Given the description of an element on the screen output the (x, y) to click on. 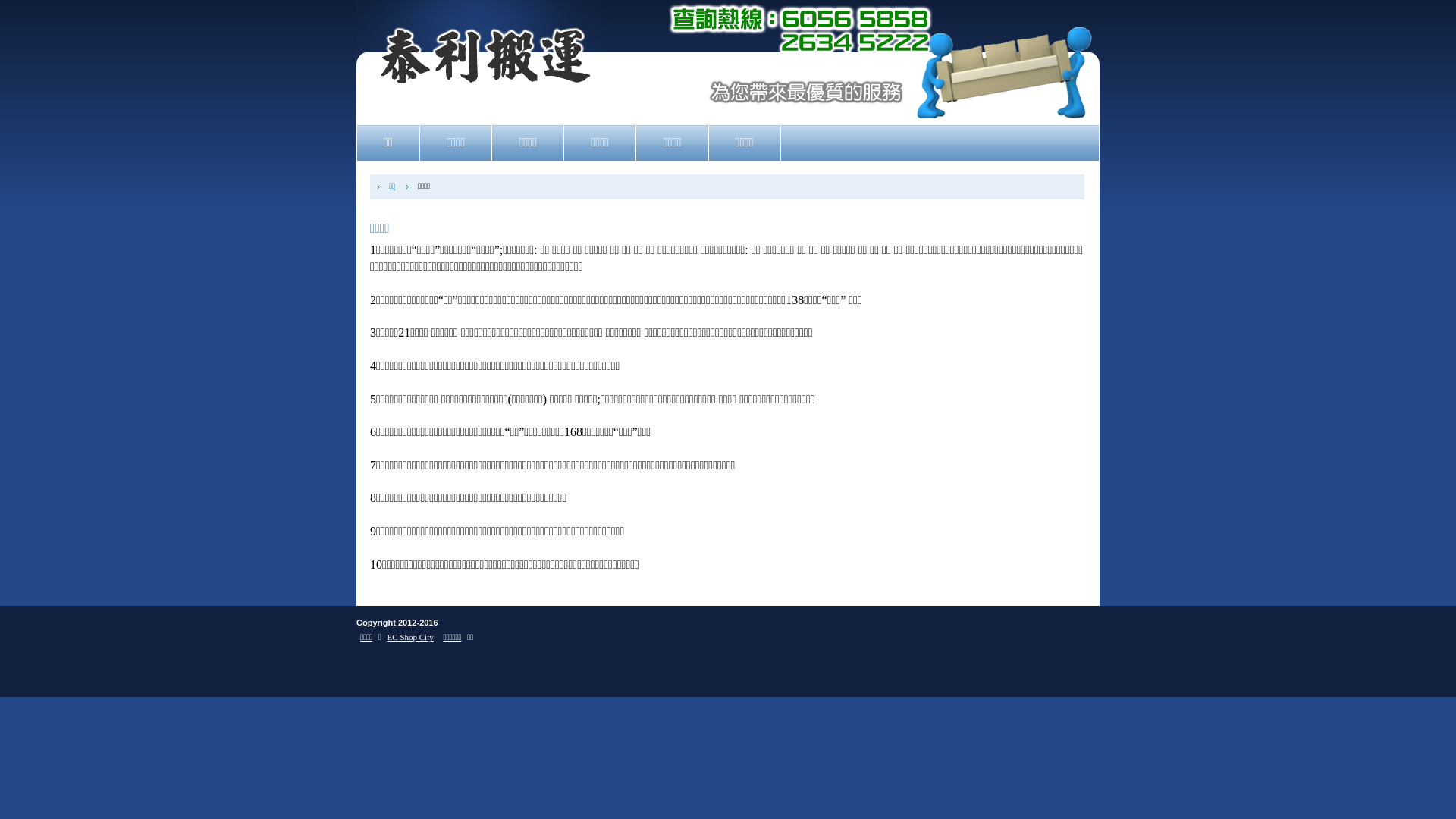
EC Shop City Element type: text (410, 636)
